Given the description of an element on the screen output the (x, y) to click on. 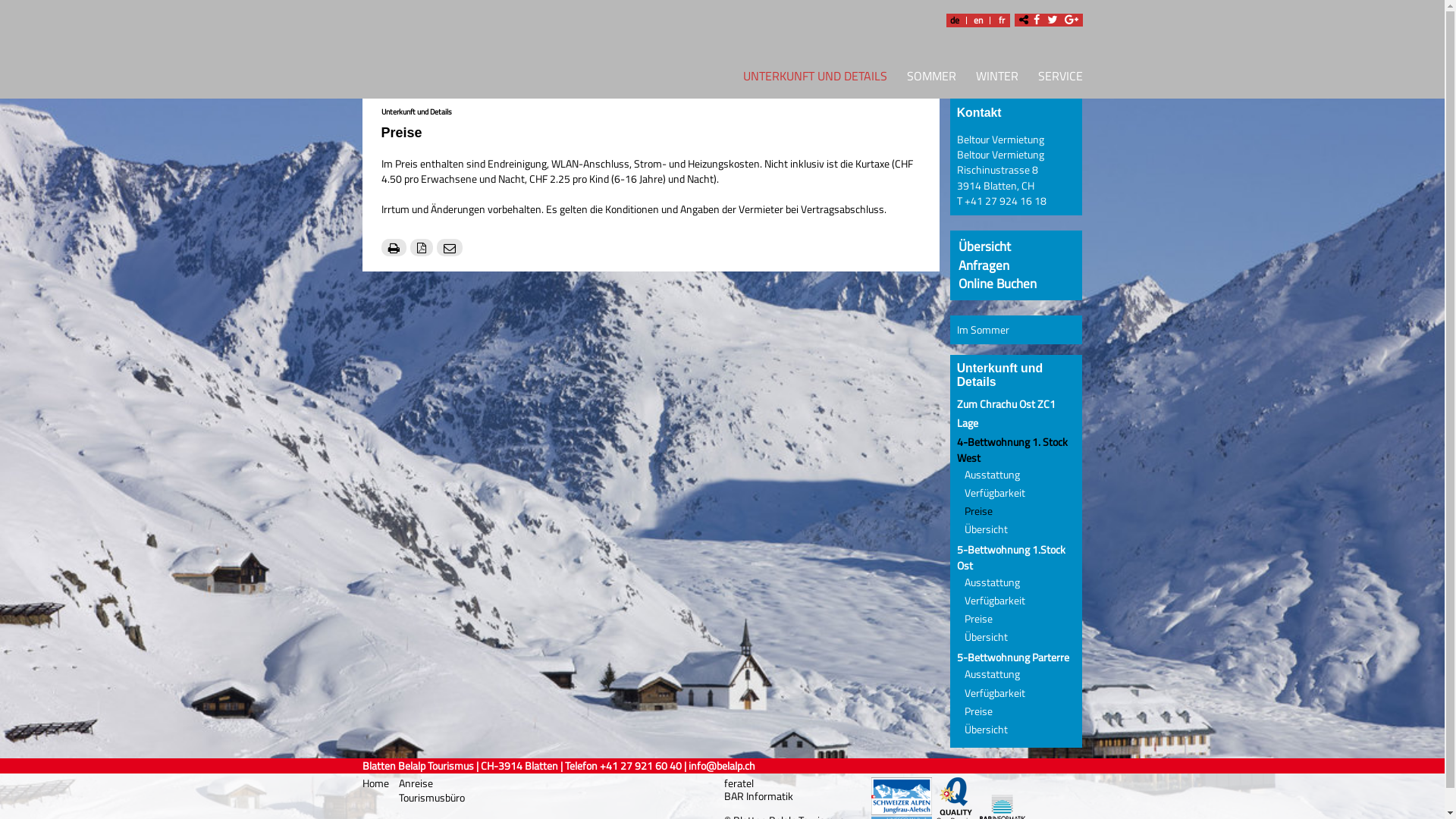
info@belalp.ch Element type: text (721, 765)
Lage Element type: text (967, 422)
Online Buchen Element type: text (997, 283)
Ausstattung Element type: text (991, 673)
Anfragen Element type: text (983, 264)
feratel Element type: text (738, 782)
5-Bettwohnung Parterre Element type: text (1013, 657)
fr Element type: text (1001, 19)
Im Sommer Element type: text (983, 329)
UNTERKUNFT UND DETAILS Element type: text (809, 78)
Zum Chrachu Ost ZC1 Element type: text (1006, 403)
Preise Element type: text (978, 510)
Ausstattung Element type: text (991, 582)
en Element type: text (977, 19)
4-Bettwohnung 1. Stock West Element type: text (1012, 449)
Unterkunft und Details Element type: text (415, 111)
Preise Element type: text (978, 618)
BAR Informatik Element type: text (758, 795)
SERVICE Element type: text (1055, 78)
Ausstattung Element type: text (991, 474)
WINTER Element type: text (997, 78)
5-Bettwohnung 1.Stock Ost Element type: text (1011, 557)
SOMMER Element type: text (930, 78)
Preise Element type: text (978, 710)
de Element type: text (954, 19)
Anreise Element type: text (415, 782)
Home Element type: text (376, 782)
